Given the description of an element on the screen output the (x, y) to click on. 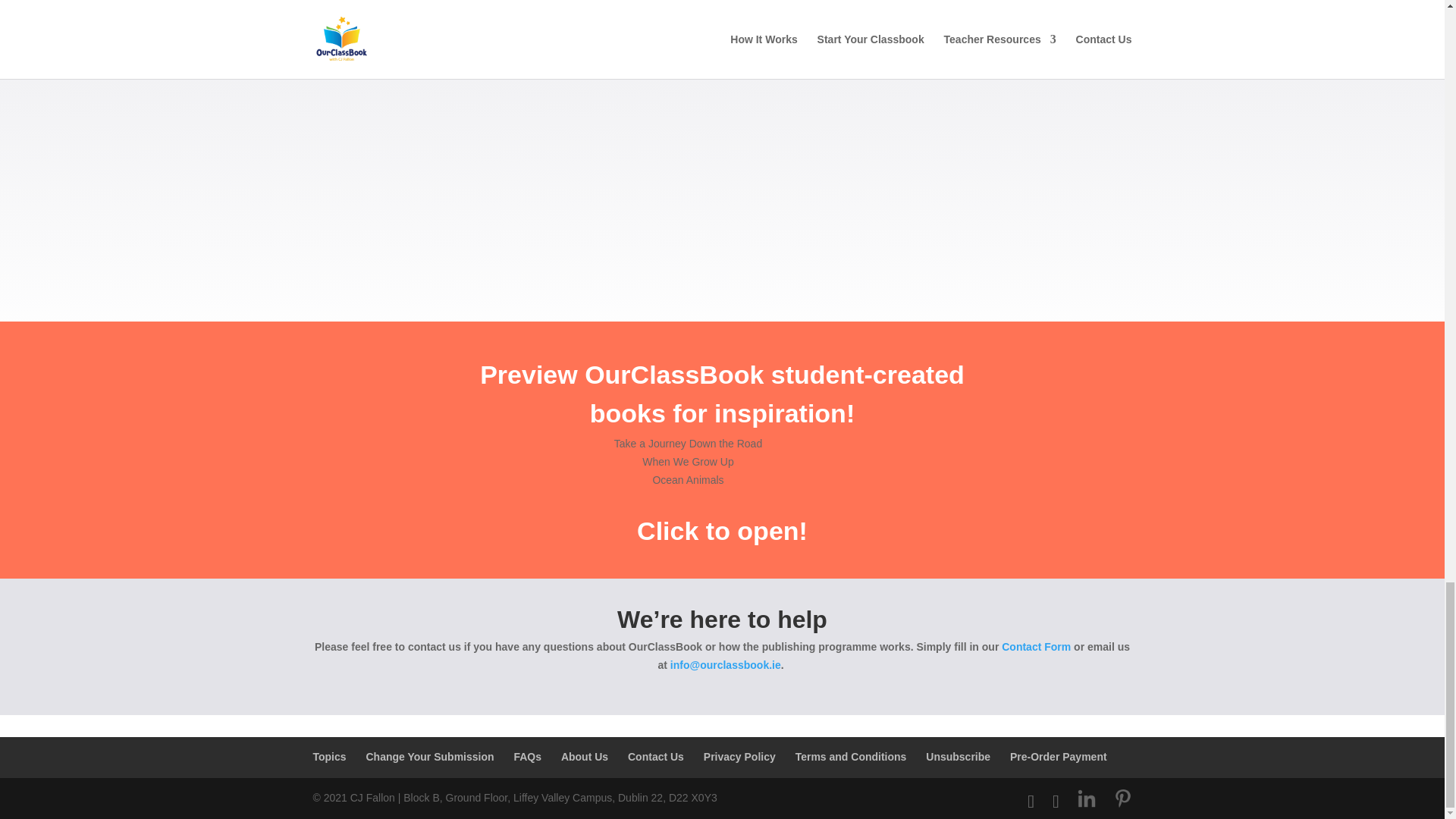
Terms and Conditions (850, 756)
About Us (584, 756)
Topics (329, 756)
FAQs (527, 756)
Unsubscribe (958, 756)
Change Your Submission (429, 756)
Contact Form (1035, 646)
Contact Us (655, 756)
Privacy Policy (739, 756)
Pre-Order Payment (1058, 756)
